Given the description of an element on the screen output the (x, y) to click on. 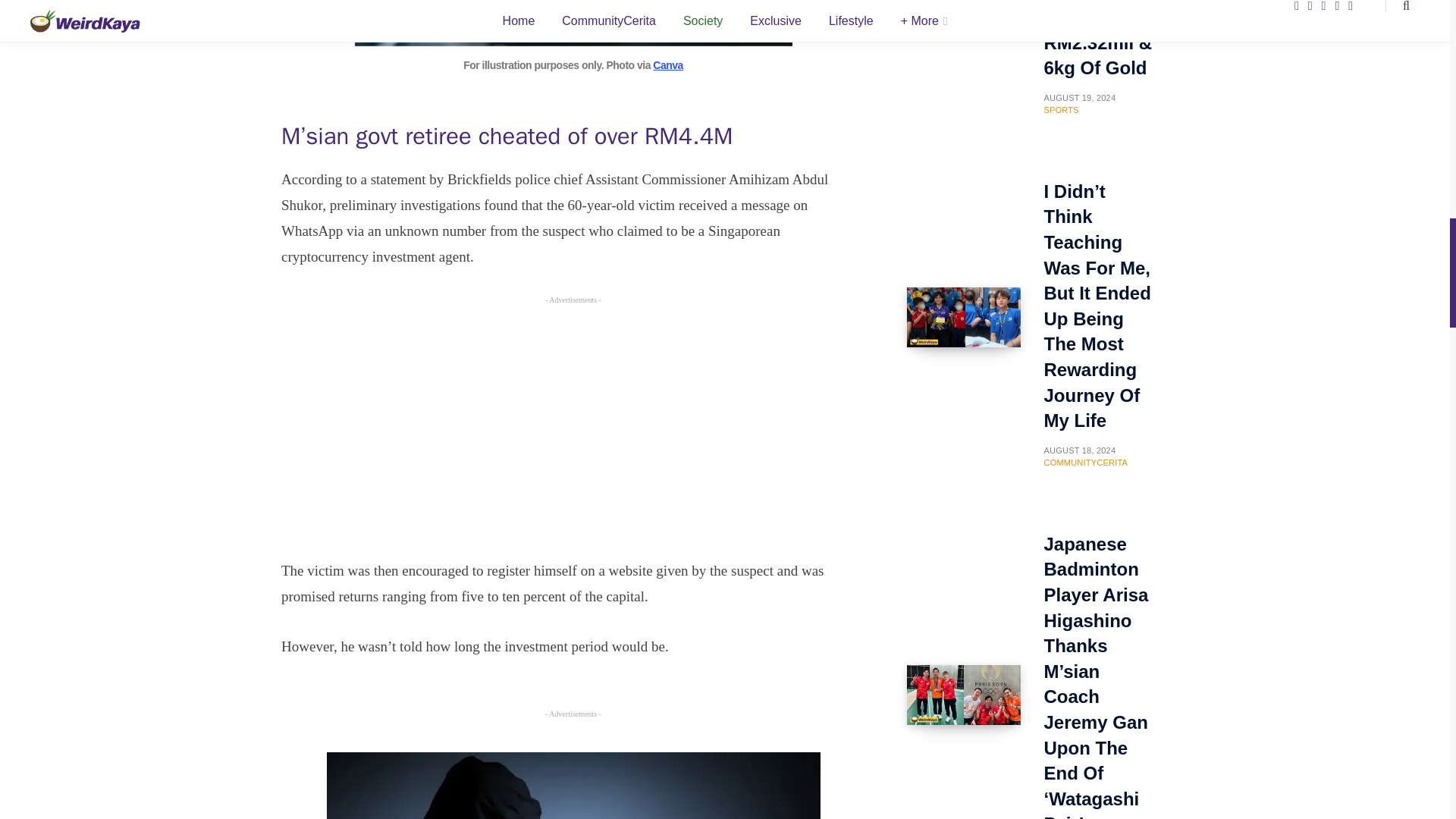
Canva (667, 64)
3rd party ad content (572, 428)
